Given the description of an element on the screen output the (x, y) to click on. 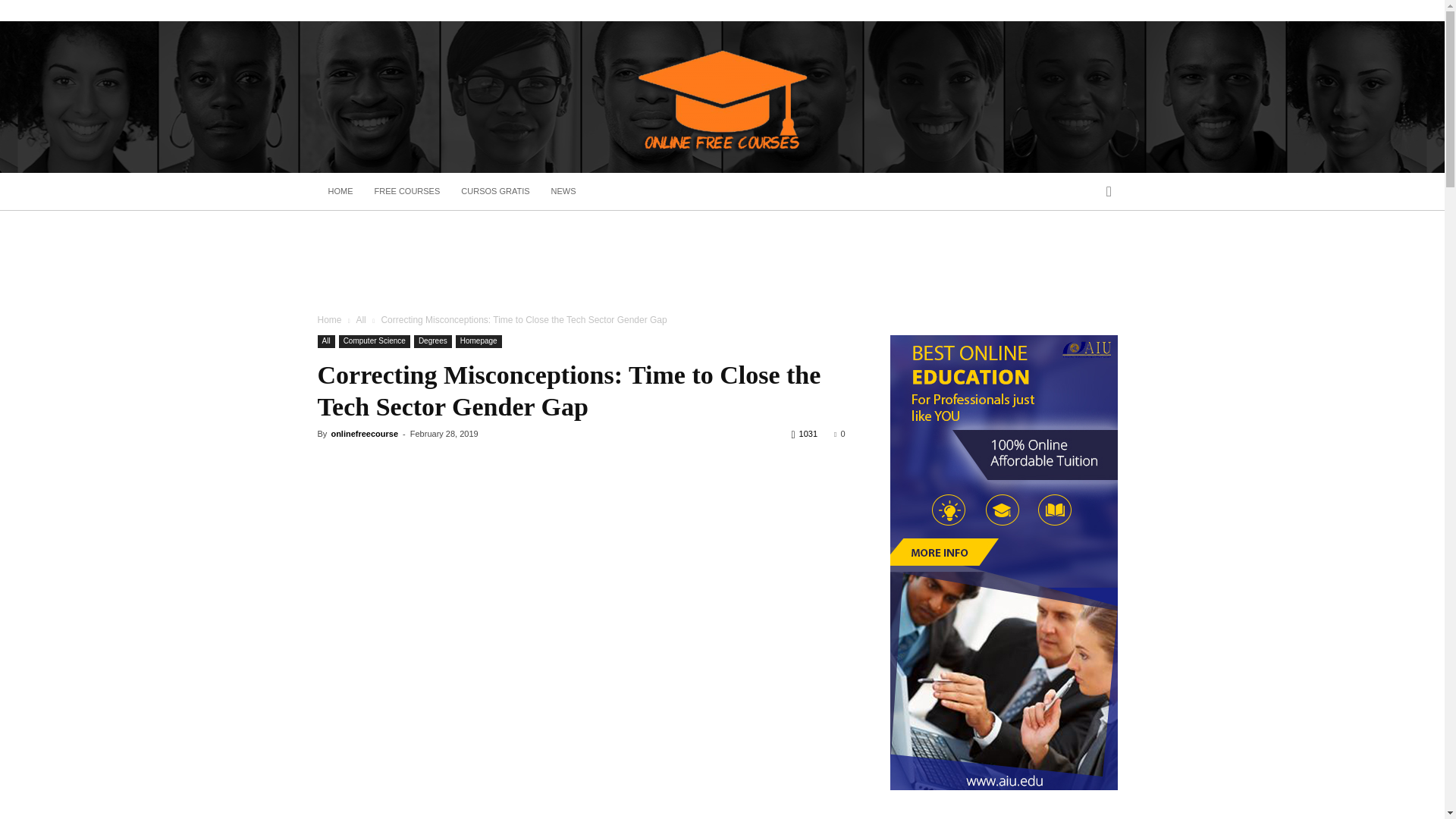
CURSOS GRATIS (494, 190)
Degrees (432, 341)
All (325, 341)
Online Free courses Central (721, 98)
Advertisement (721, 262)
FREE COURSES (407, 190)
Computer Science (374, 341)
Homepage (478, 341)
Facebook (1114, 10)
Home (328, 319)
